Given the description of an element on the screen output the (x, y) to click on. 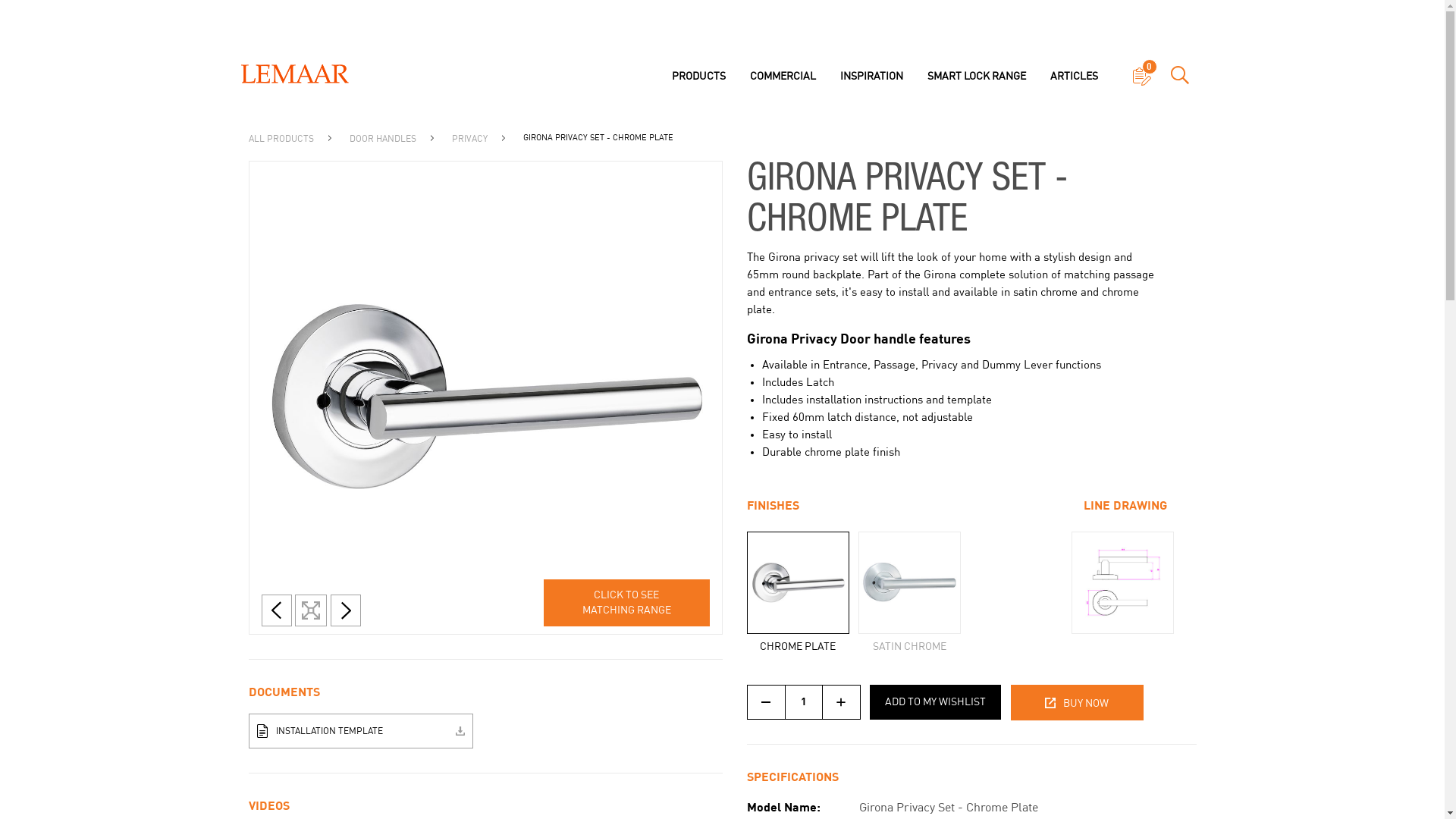
INSTALLATION TEMPLATE Element type: text (360, 730)
INSPIRATION Element type: text (871, 76)
CLICK TO SEE
MATCHING RANGE Element type: text (626, 602)
0 Element type: text (1140, 76)
SATIN CHROME Element type: text (909, 593)
SMART LOCK RANGE Element type: text (975, 76)
PRODUCTS Element type: text (698, 76)
+ Element type: text (840, 701)
ADD TO MY WISHLIST Element type: text (934, 701)
COMMERCIAL Element type: text (782, 76)
- Element type: text (765, 701)
CHROME PLATE Element type: text (797, 593)
ARTICLES Element type: text (1073, 76)
BUY NOW Element type: text (1076, 702)
DOOR HANDLES Element type: text (382, 138)
PRIVACY Element type: text (470, 138)
ALL PRODUCTS Element type: text (282, 138)
